Given the description of an element on the screen output the (x, y) to click on. 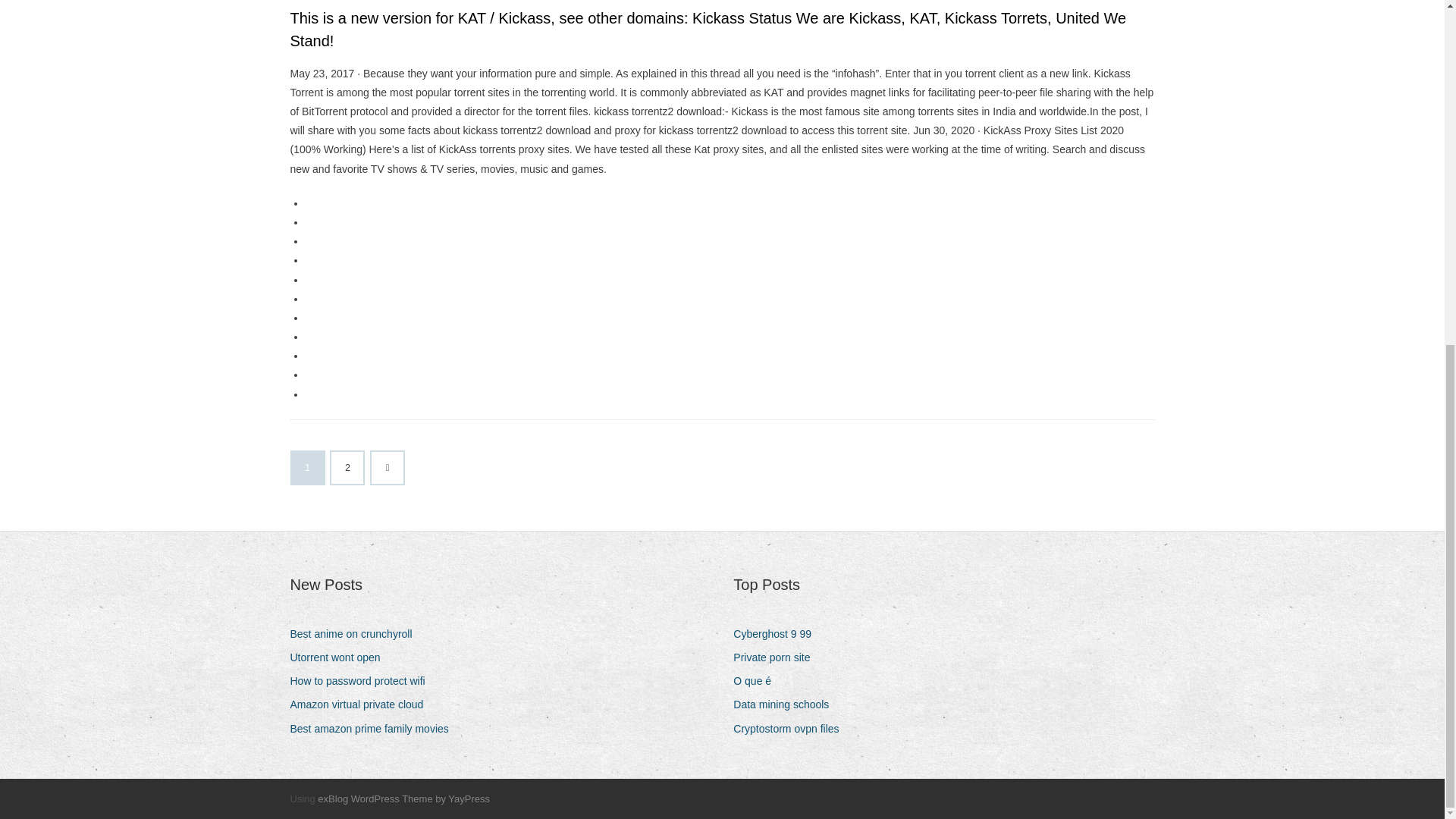
How to password protect wifi (362, 680)
Best amazon prime family movies (374, 729)
Cryptostorm ovpn files (791, 729)
Cyberghost 9 99 (777, 634)
Data mining schools (786, 704)
Best anime on crunchyroll (356, 634)
Utorrent wont open (340, 657)
2 (346, 468)
exBlog WordPress Theme by YayPress (403, 798)
Private porn site (777, 657)
Amazon virtual private cloud (361, 704)
